Given the description of an element on the screen output the (x, y) to click on. 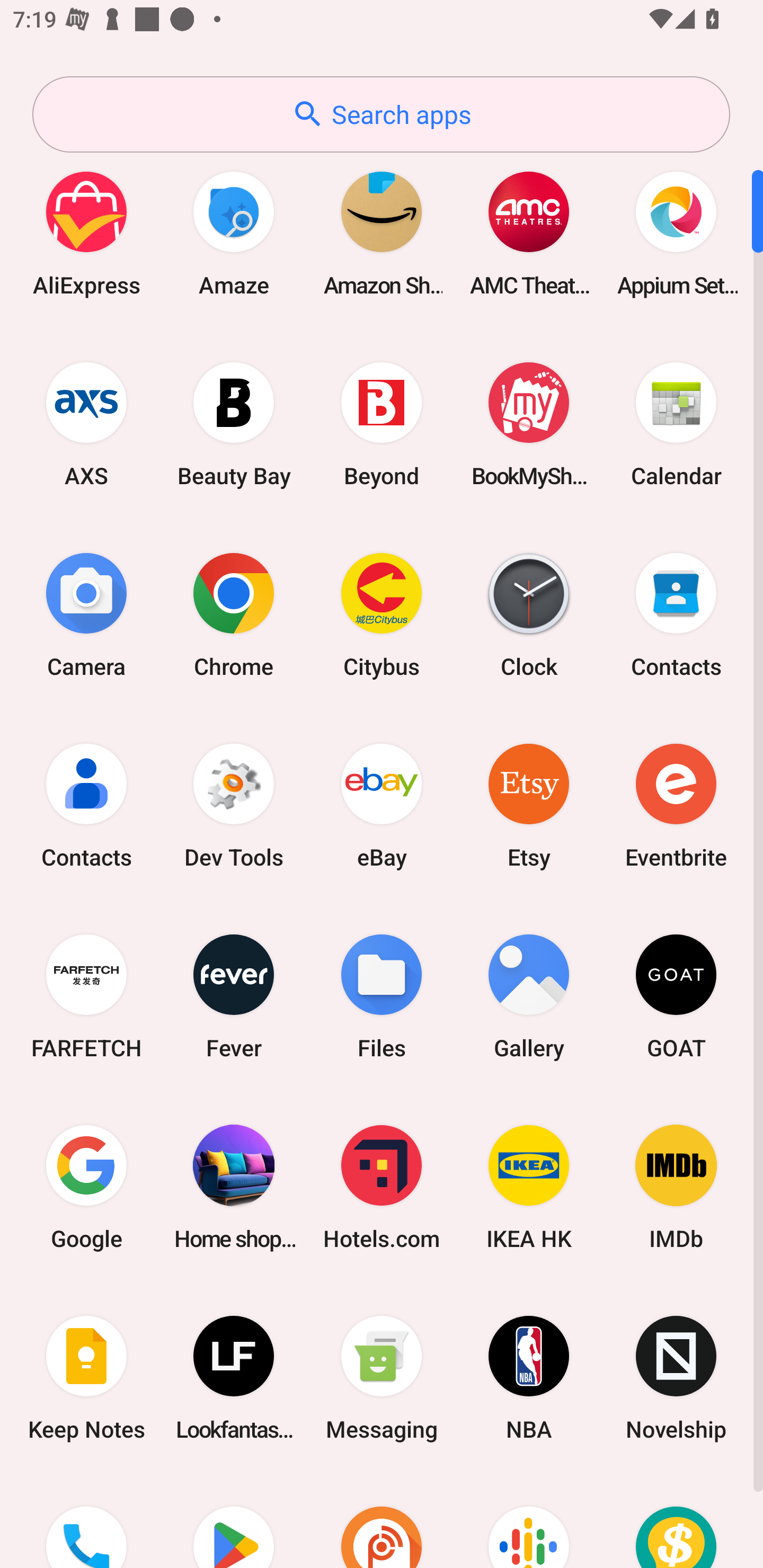
  Search apps (381, 114)
AliExpress (86, 233)
Amaze (233, 233)
Amazon Shopping (381, 233)
AMC Theatres (528, 233)
Appium Settings (676, 233)
AXS (86, 424)
Beauty Bay (233, 424)
Beyond (381, 424)
BookMyShow (528, 424)
Calendar (676, 424)
Camera (86, 614)
Chrome (233, 614)
Citybus (381, 614)
Clock (528, 614)
Contacts (676, 614)
Contacts (86, 805)
Dev Tools (233, 805)
eBay (381, 805)
Etsy (528, 805)
Eventbrite (676, 805)
FARFETCH (86, 996)
Fever (233, 996)
Files (381, 996)
Gallery (528, 996)
GOAT (676, 996)
Google (86, 1186)
Home shopping (233, 1186)
Hotels.com (381, 1186)
IKEA HK (528, 1186)
IMDb (676, 1186)
Keep Notes (86, 1377)
Lookfantastic (233, 1377)
Messaging (381, 1377)
NBA (528, 1377)
Novelship (676, 1377)
Phone (86, 1520)
Play Store (233, 1520)
Podcast Addict (381, 1520)
Podcasts (528, 1520)
Price (676, 1520)
